Given the description of an element on the screen output the (x, y) to click on. 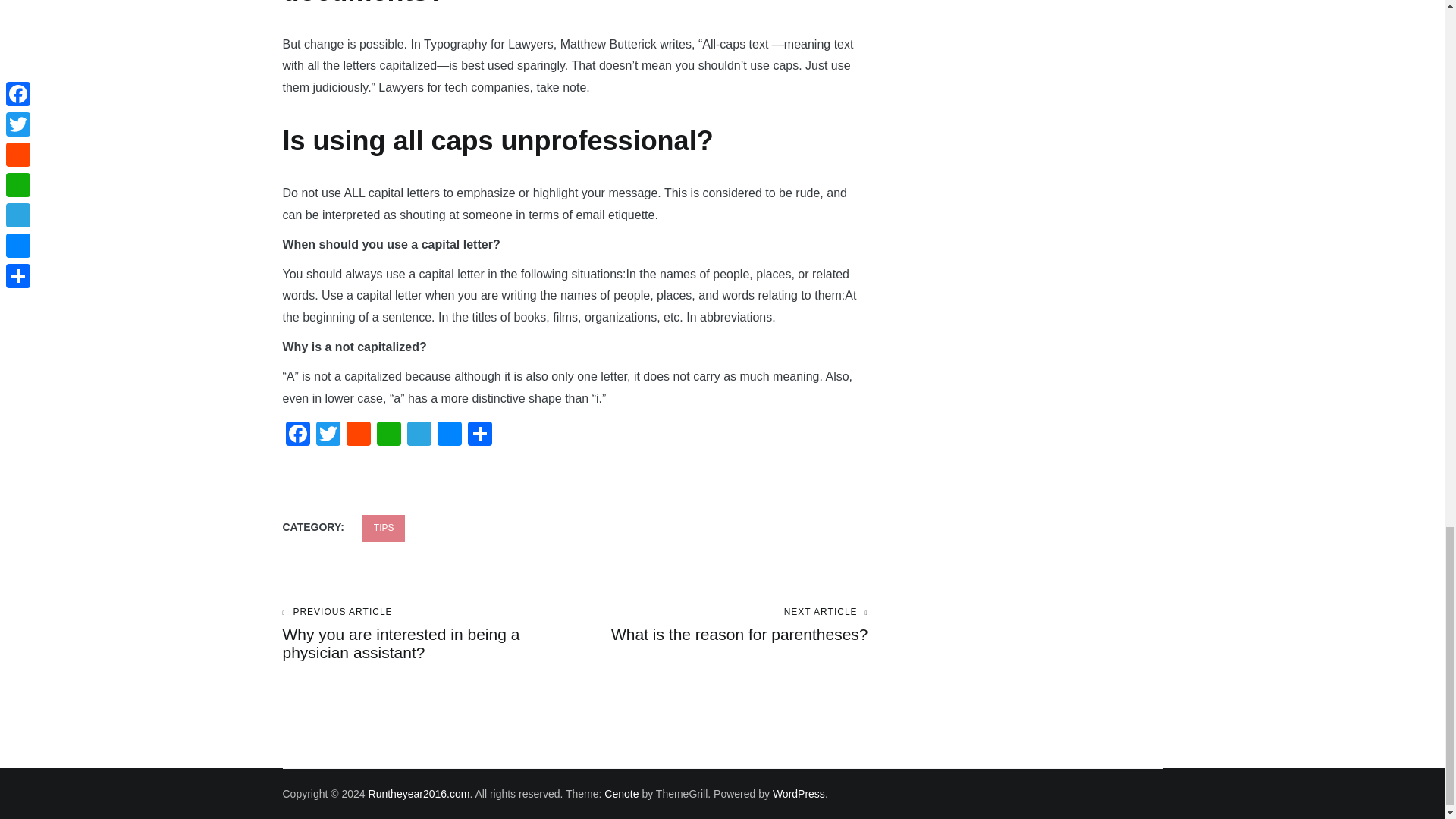
TIPS (384, 528)
Reddit (357, 435)
Telegram (418, 435)
Runtheyear2016.com (419, 793)
Telegram (418, 435)
Facebook (297, 435)
Runtheyear2016.com (419, 793)
Messenger (448, 435)
Facebook (297, 435)
Messenger (448, 435)
